Given the description of an element on the screen output the (x, y) to click on. 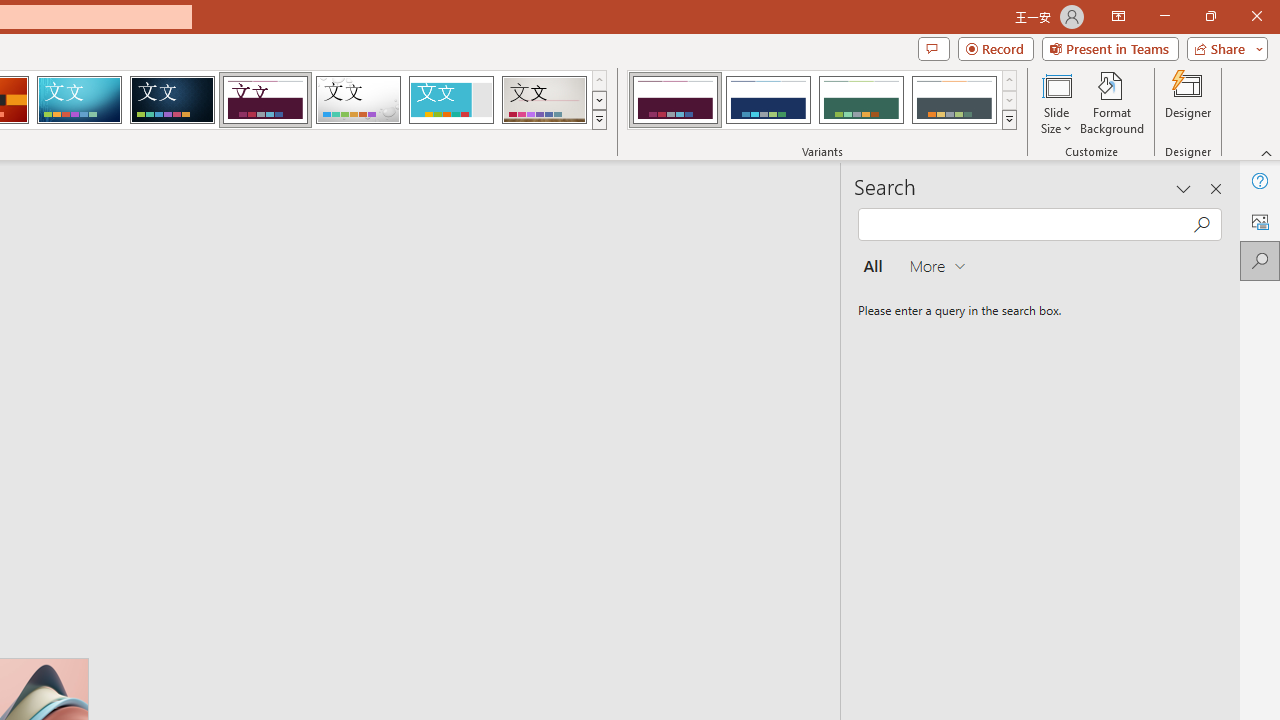
Damask (171, 100)
Dividend Variant 3 (861, 100)
Dividend Variant 1 (674, 100)
Droplet (358, 100)
